Given the description of an element on the screen output the (x, y) to click on. 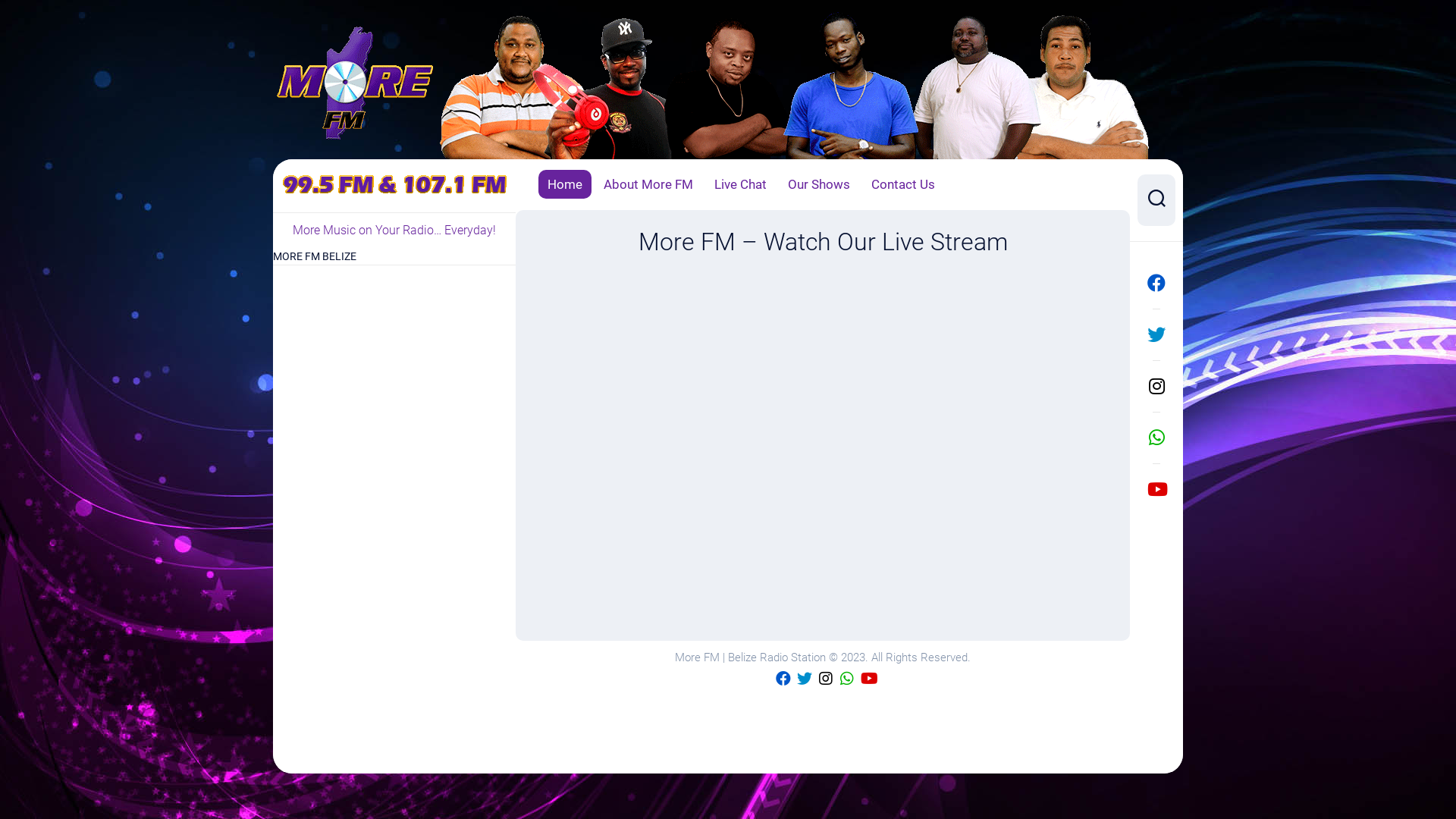
About More FM Element type: text (648, 183)
Whatsapp Element type: hover (1156, 437)
Twitter Element type: hover (804, 678)
Instagram Element type: hover (825, 678)
Live Chat Element type: text (740, 183)
Our Shows Element type: text (818, 183)
Youtube Element type: hover (1156, 488)
Whatsapp Element type: hover (846, 678)
MORE FM BELIZE Element type: text (314, 256)
Youtube Element type: hover (867, 678)
Facebook Element type: hover (1156, 282)
Twitter Element type: hover (1156, 334)
Facebook Element type: hover (782, 678)
Instagram Element type: hover (1156, 385)
Contact Us Element type: text (903, 183)
Home Element type: text (564, 183)
